Given the description of an element on the screen output the (x, y) to click on. 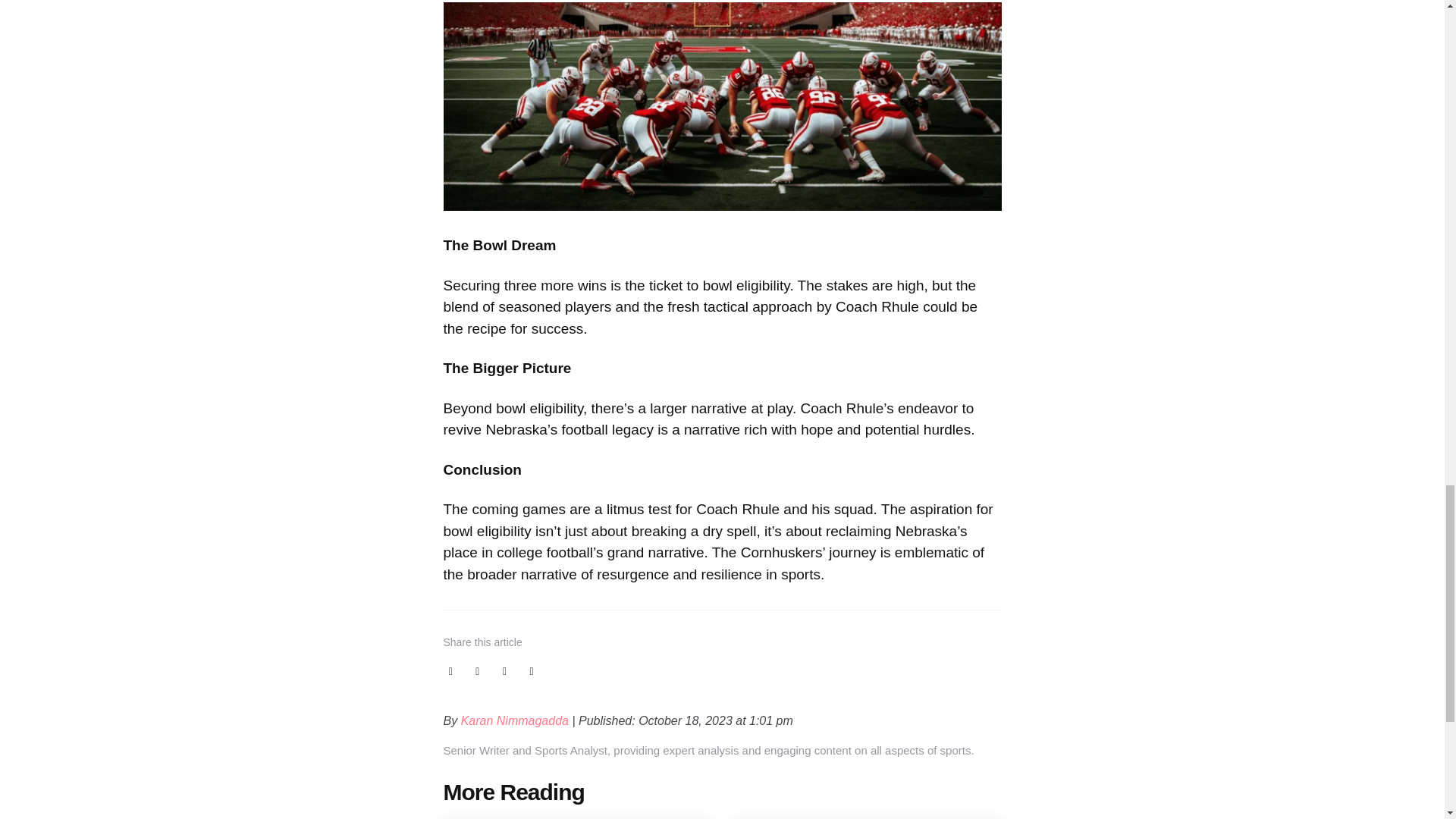
Karan Nimmagadda (516, 720)
